Given the description of an element on the screen output the (x, y) to click on. 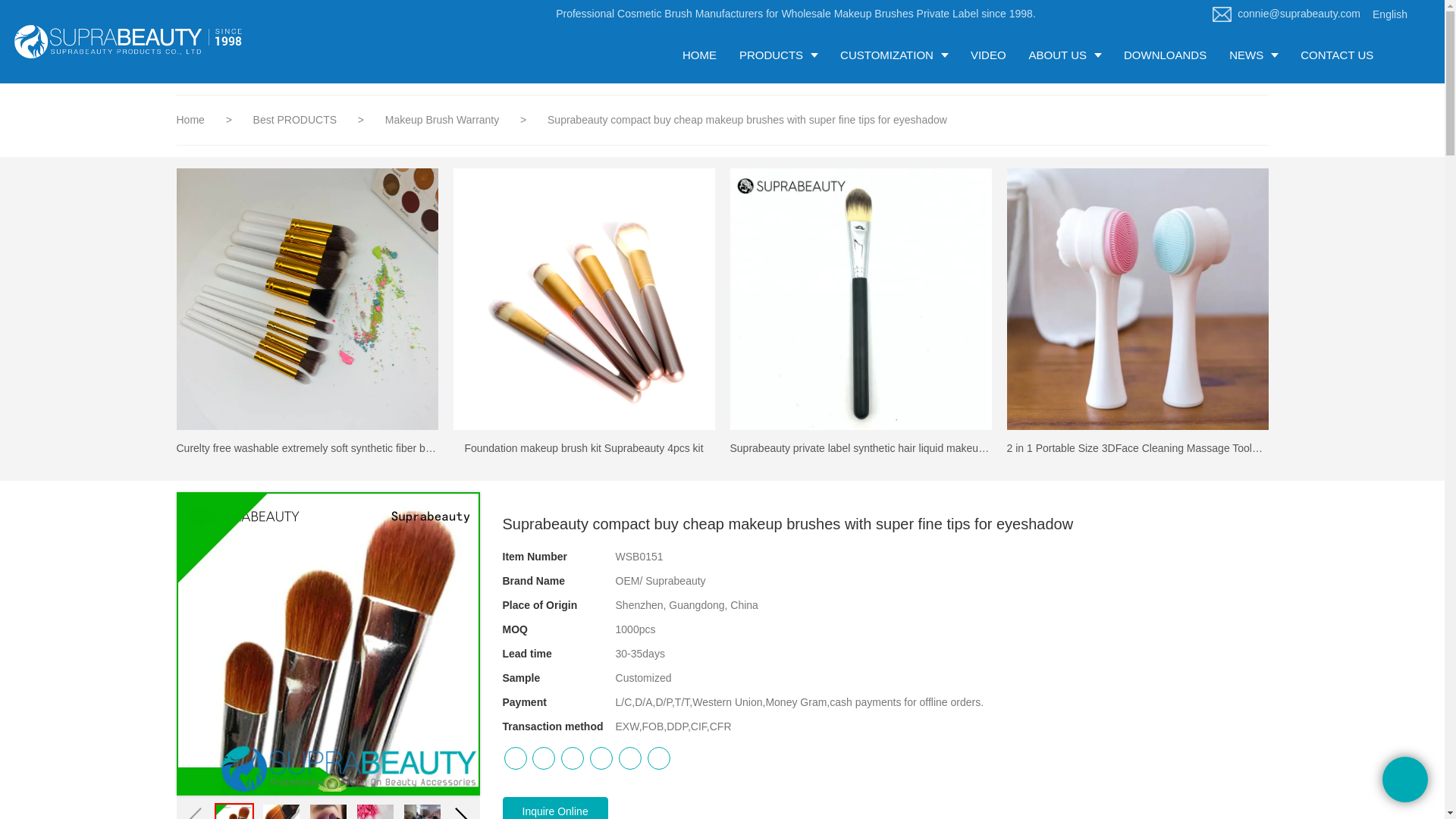
DOWNLOANDS (1164, 55)
Makeup Brush Warranty (443, 119)
NEWS (1252, 55)
Home (189, 119)
HOME (699, 55)
PRODUCTS (778, 55)
Best PRODUCTS (296, 119)
ABOUT US (1064, 55)
CUSTOMIZATION (893, 55)
